Given the description of an element on the screen output the (x, y) to click on. 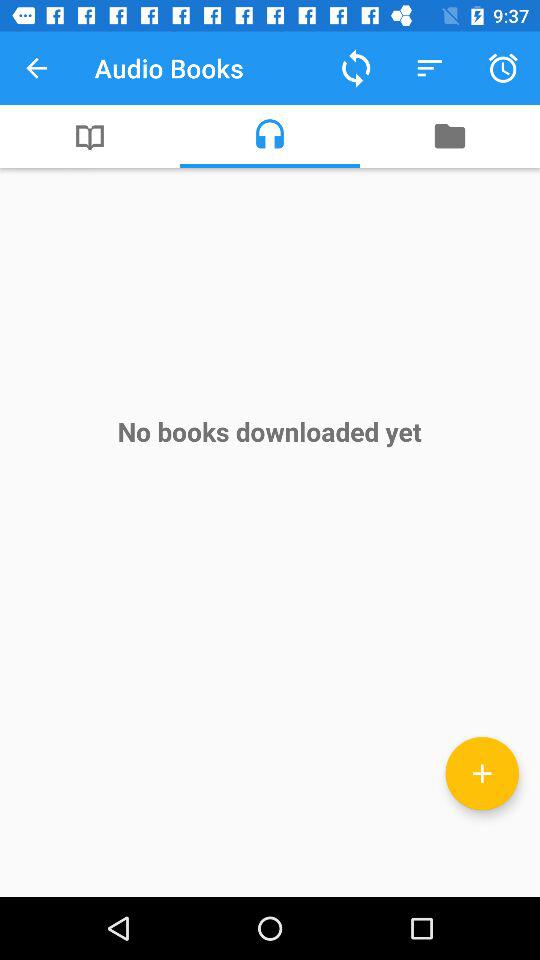
click the item above the no books downloaded icon (90, 136)
